Given the description of an element on the screen output the (x, y) to click on. 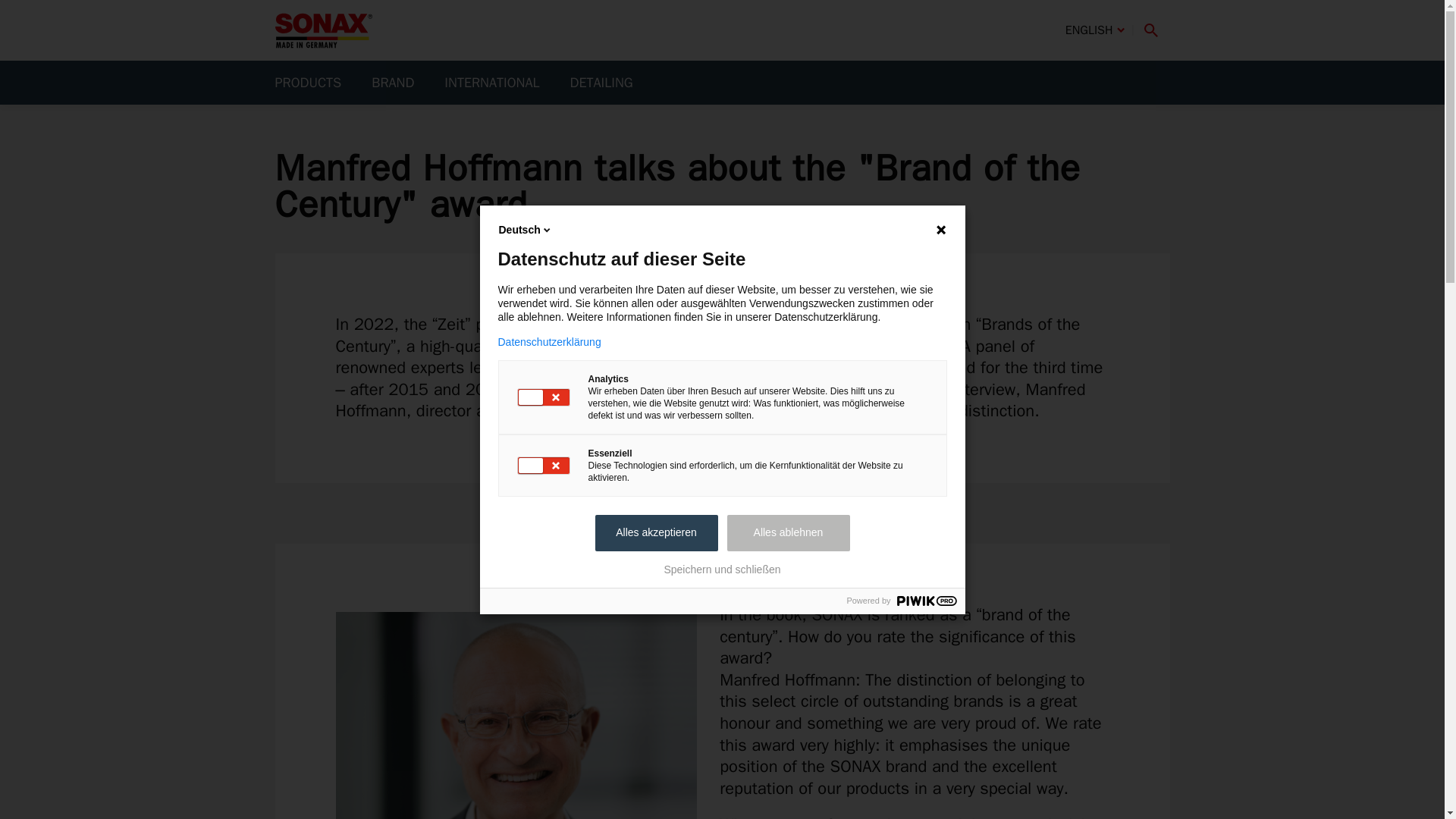
Alles akzeptieren (655, 532)
DETAILING (600, 82)
SONAX GmbH (323, 30)
Alles ablehnen (787, 532)
INTERNATIONAL (491, 82)
ENGLISH (1094, 30)
